Given the description of an element on the screen output the (x, y) to click on. 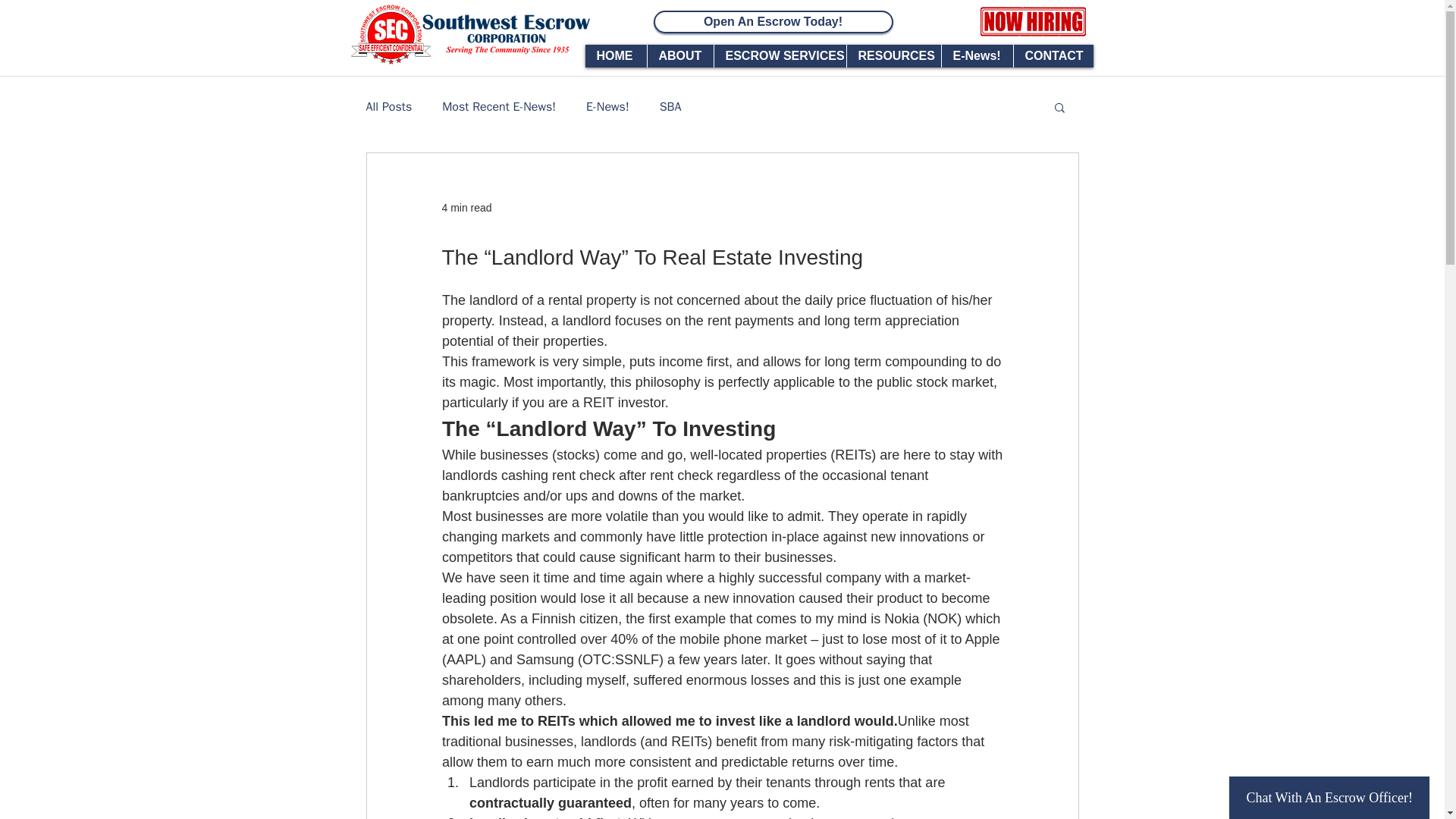
RESOURCES (892, 56)
All Posts (388, 106)
ABOUT (679, 56)
ESCROW SERVICES (779, 56)
Most Recent E-News! (499, 106)
SBA (670, 106)
E-News! (607, 106)
Open An Escrow Today! (773, 21)
4 min read (466, 207)
HOME (615, 56)
E-News! (975, 56)
CONTACT (1053, 56)
